Given the description of an element on the screen output the (x, y) to click on. 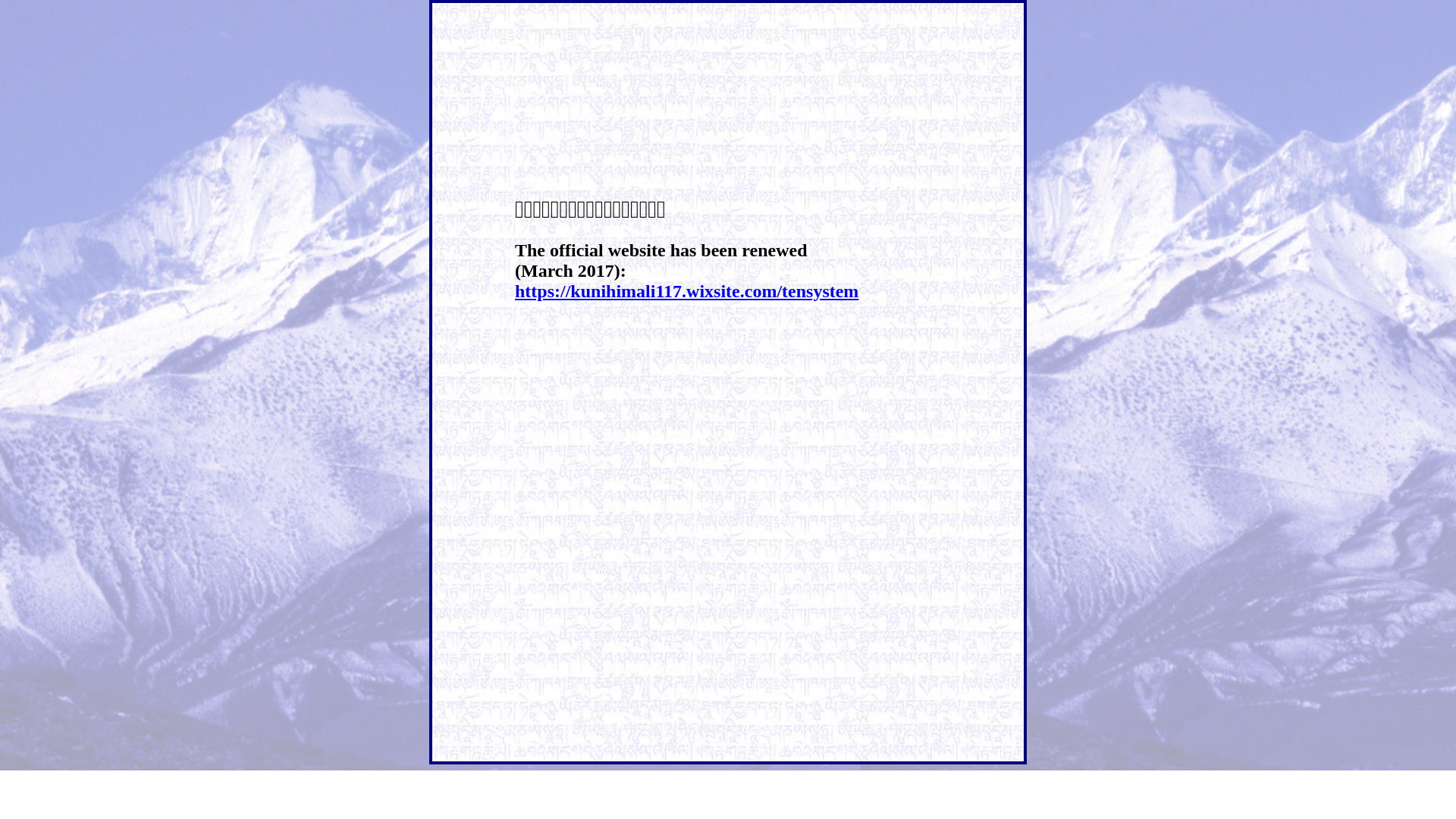
https://kunihimali117.wixsite.com/tensystem Element type: text (686, 291)
